Given the description of an element on the screen output the (x, y) to click on. 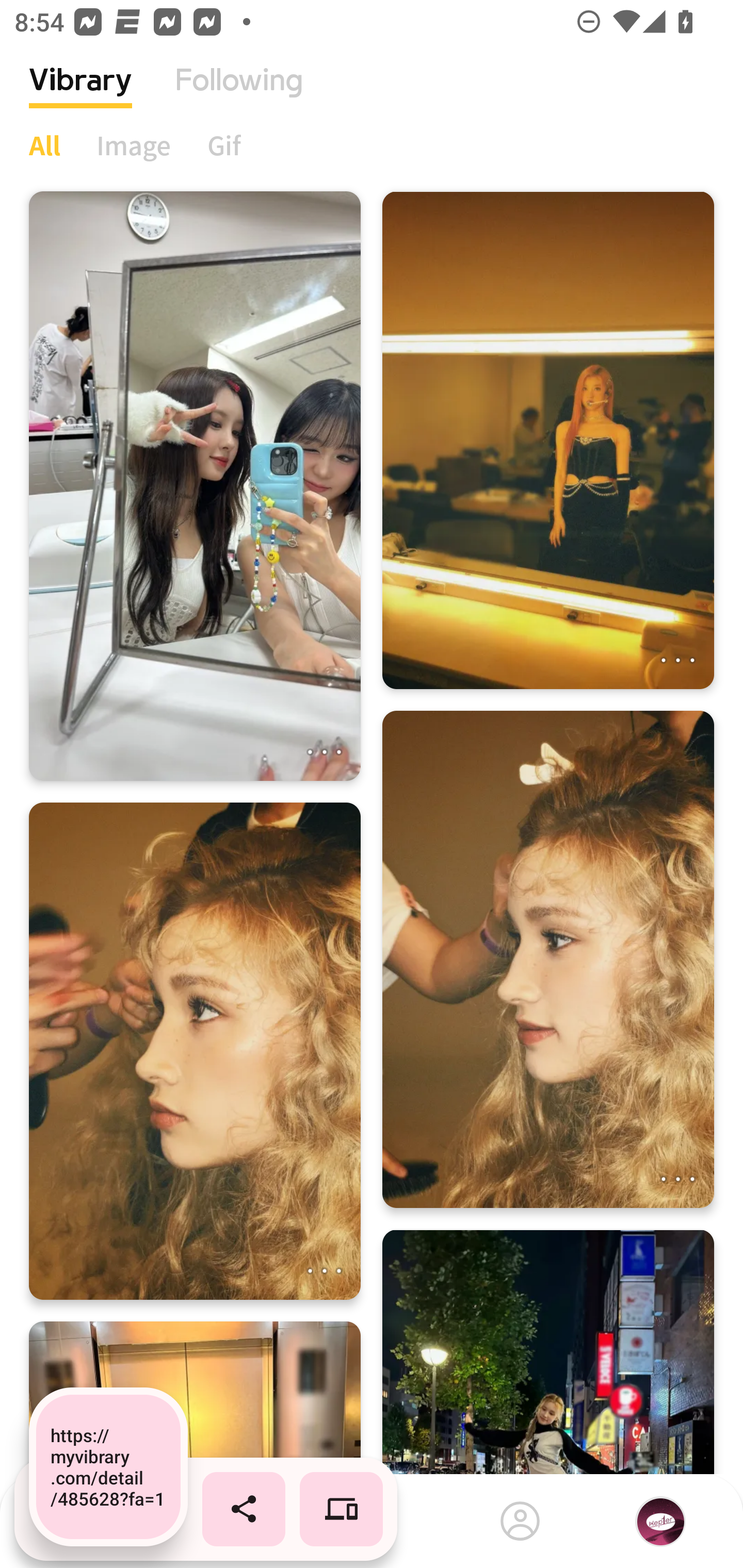
Vibrary (80, 95)
Following (239, 95)
All (44, 145)
Image (133, 145)
Gif (223, 145)
